Given the description of an element on the screen output the (x, y) to click on. 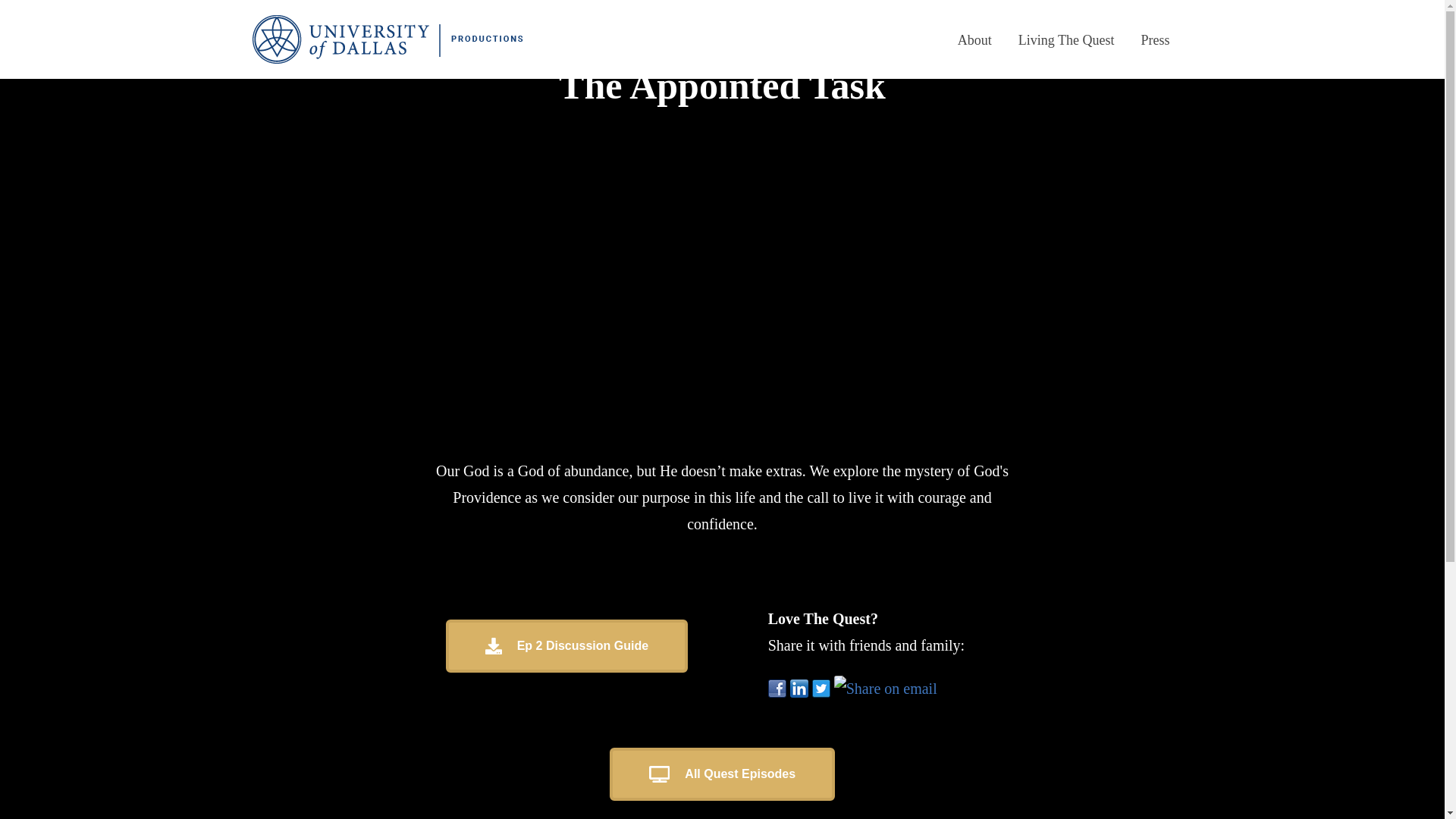
Press (1154, 38)
About (974, 38)
All Quest Episodes (722, 773)
Living The Quest (1066, 38)
Ep 2 Discussion Guide (566, 645)
